Given the description of an element on the screen output the (x, y) to click on. 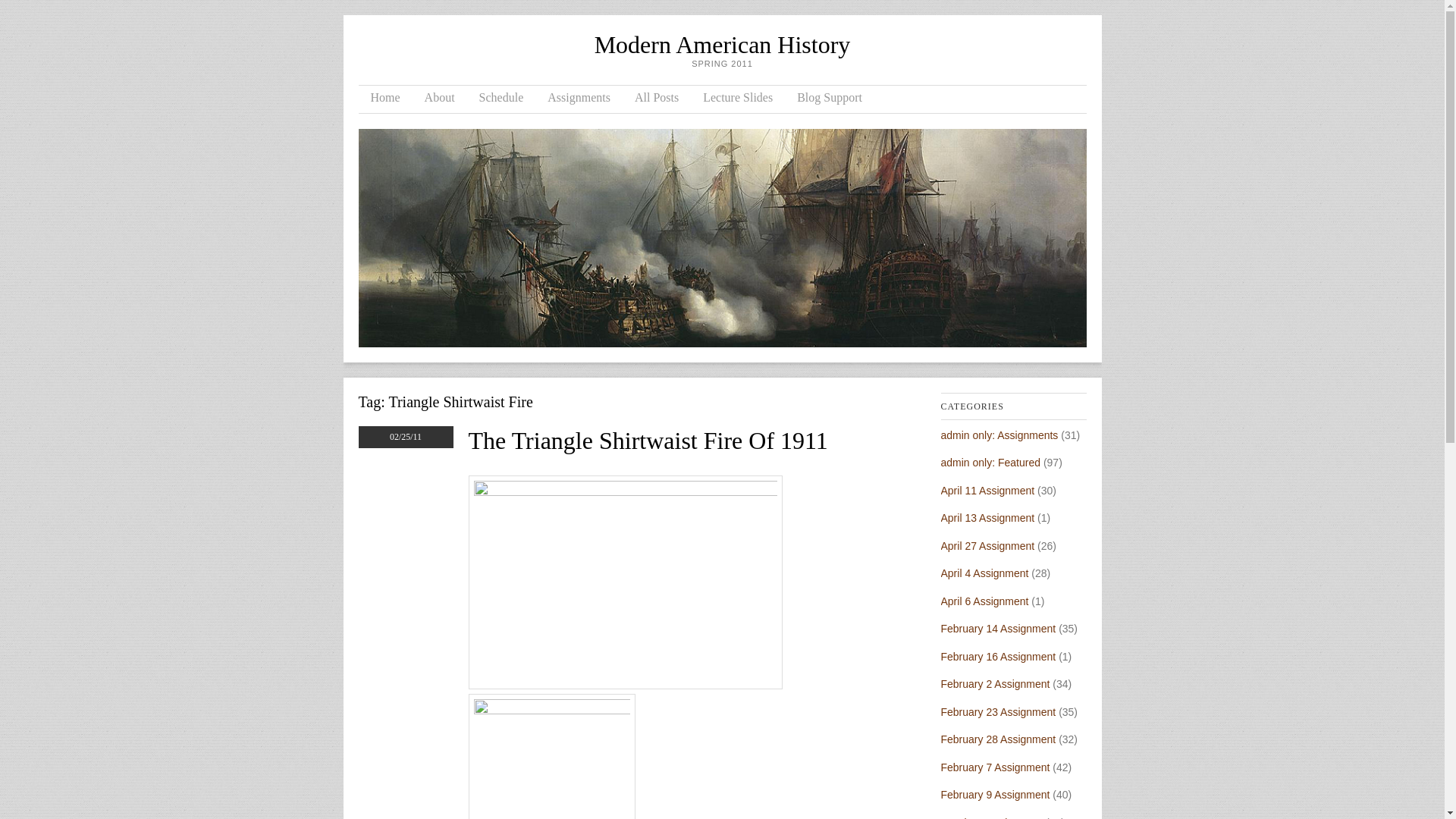
The Triangle Shirtwaist Fire Of 1911 (648, 440)
April 11 Assignment (986, 490)
February 28 Assignment (997, 739)
Blog Support (829, 99)
Modern American History (722, 44)
Lecture Slides (737, 99)
April 13 Assignment (986, 517)
February 2 Assignment (994, 684)
February 14 Assignment (997, 628)
Assignments (579, 99)
